Given the description of an element on the screen output the (x, y) to click on. 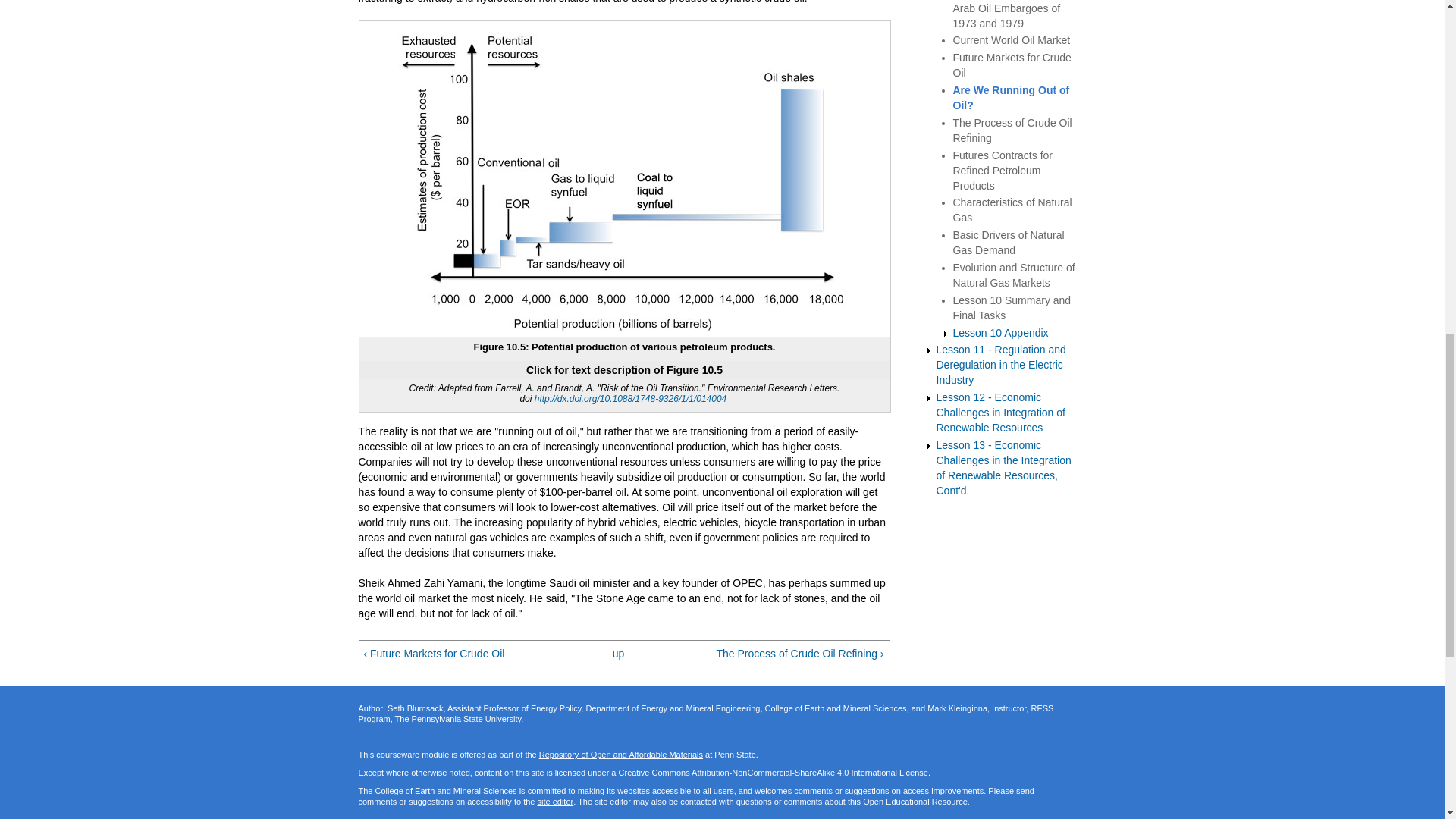
Lesson 10 Summary and Final Tasks (1011, 307)
The Process of Crude Oil Refining (1011, 130)
Basic Drivers of Natural Gas Demand (1008, 242)
Future Markets for Crude Oil (1011, 64)
up (618, 653)
Go to next page (774, 653)
Go to parent page (618, 653)
Are We Running Out of Oil? (1010, 97)
Evolution and Structure of Natural Gas Markets (1013, 275)
Go to previous page (473, 653)
